Given the description of an element on the screen output the (x, y) to click on. 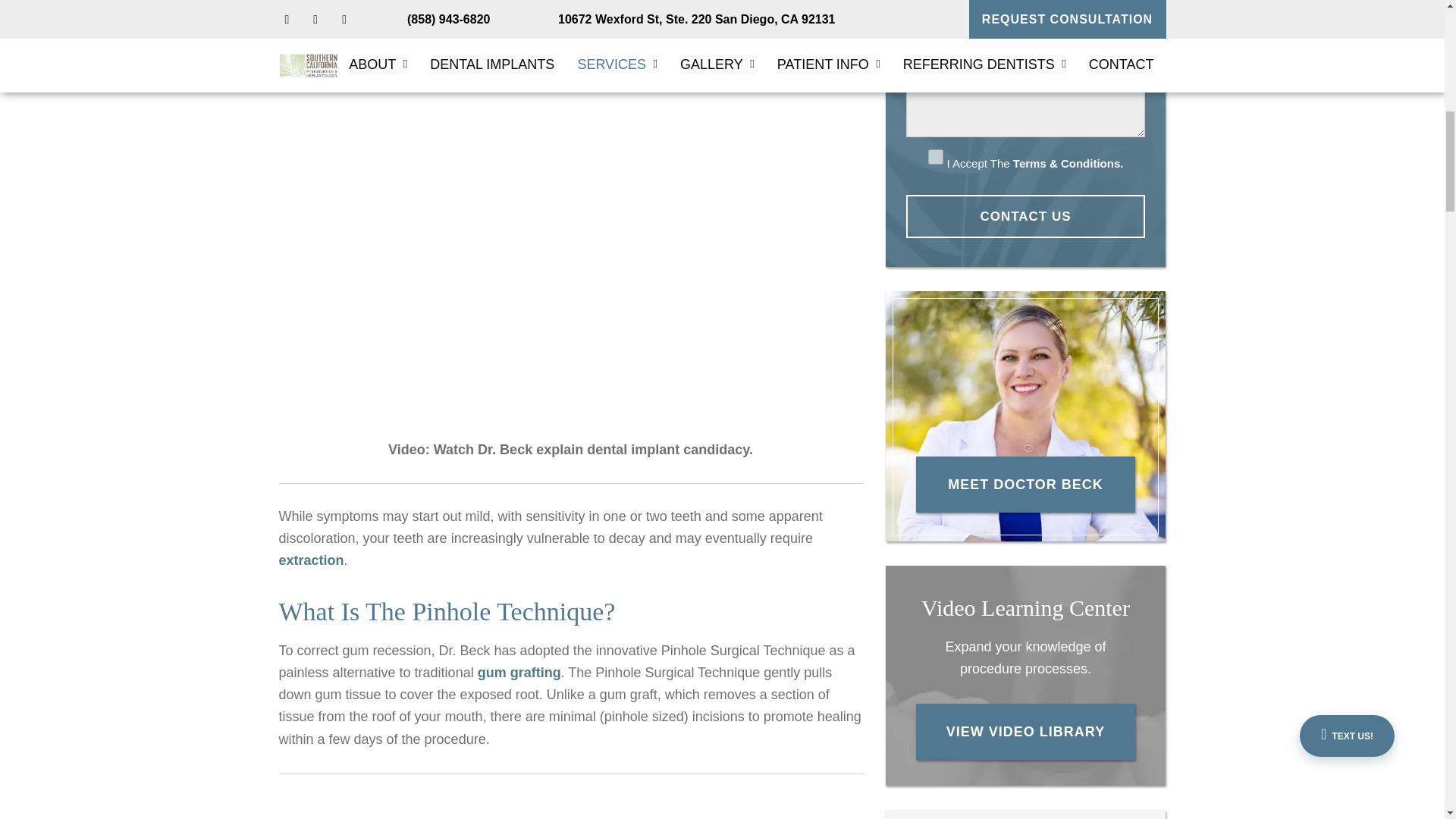
accepted (935, 156)
Contact Us (1024, 216)
